Given the description of an element on the screen output the (x, y) to click on. 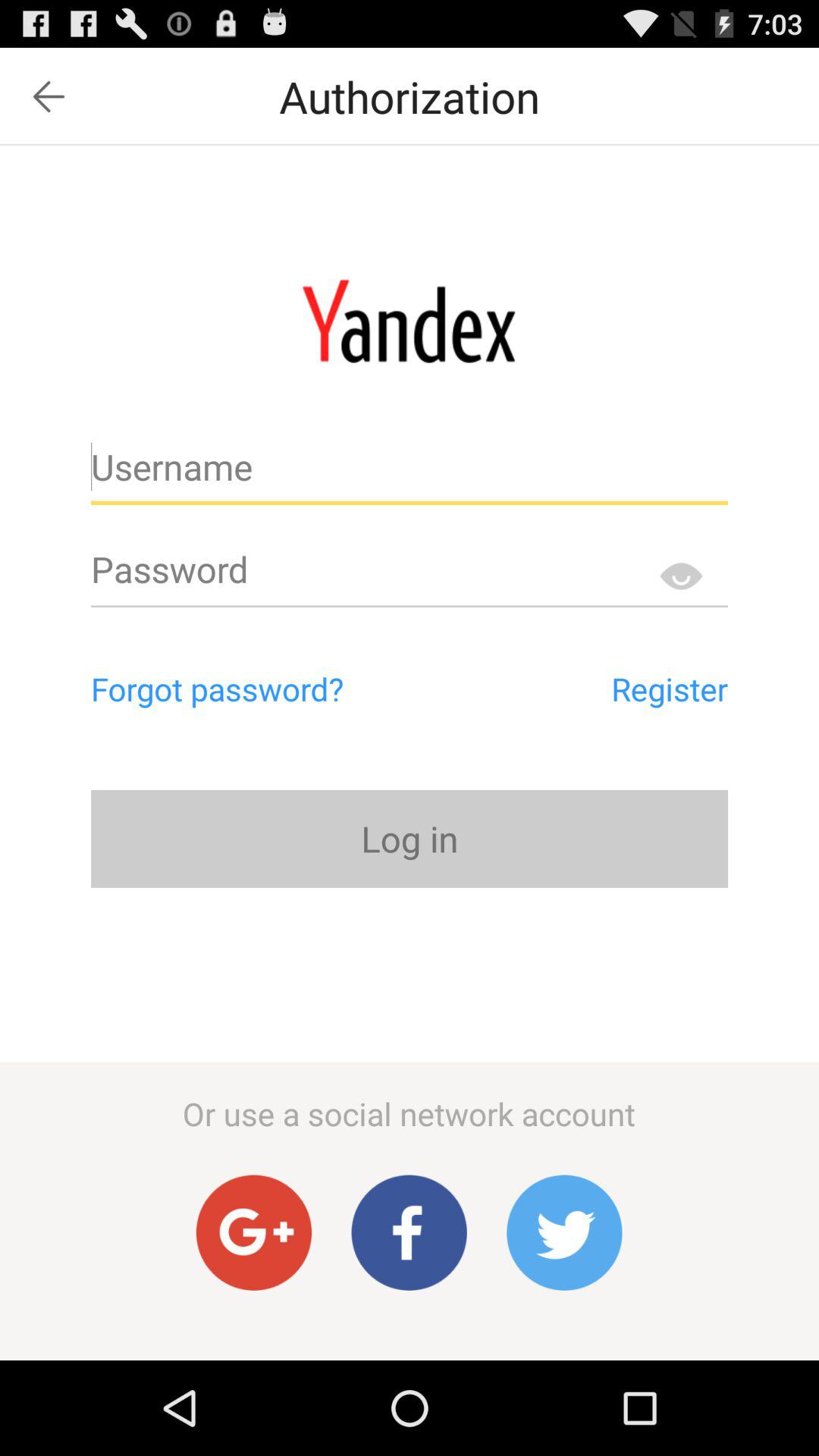
choose register app (600, 688)
